Given the description of an element on the screen output the (x, y) to click on. 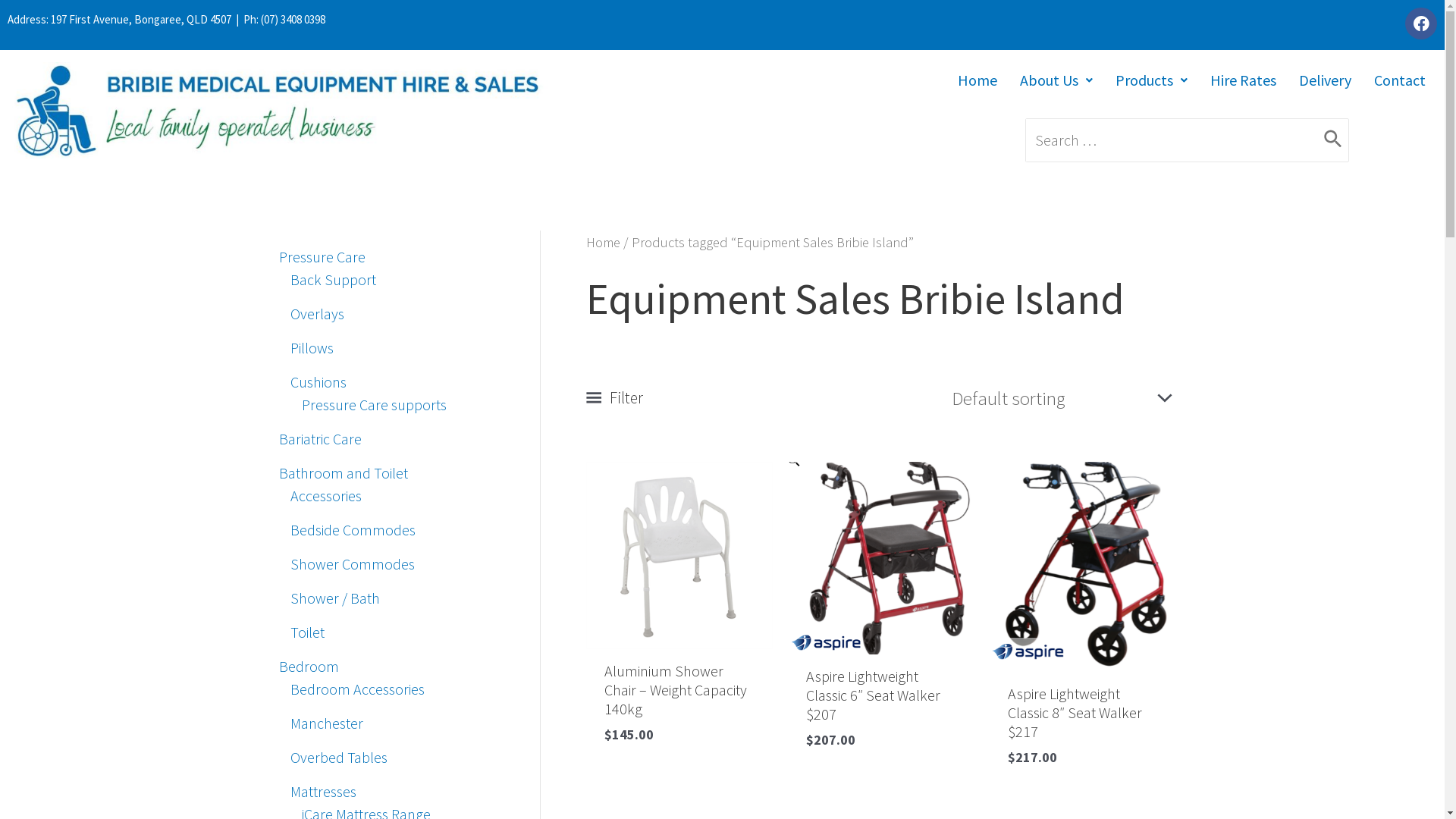
Accessories Element type: text (324, 495)
Pillows Element type: text (310, 347)
Shower / Bath Element type: text (334, 597)
Products Element type: text (1151, 80)
Pressure Care Element type: text (322, 256)
Overbed Tables Element type: text (337, 756)
About Us Element type: text (1056, 80)
Mattresses Element type: text (322, 790)
Manchester Element type: text (325, 722)
Search Element type: text (1333, 140)
Delivery Element type: text (1324, 80)
Bedside Commodes Element type: text (351, 529)
Pressure Care supports Element type: text (373, 404)
Bariatric Care Element type: text (320, 438)
Toilet Element type: text (306, 631)
Cushions Element type: text (317, 381)
Bedroom Element type: text (308, 665)
Contact Element type: text (1399, 80)
Overlays Element type: text (316, 313)
Shower Commodes Element type: text (351, 563)
Filter Element type: text (613, 397)
Hire Rates Element type: text (1242, 80)
Back Support Element type: text (332, 278)
Bathroom and Toilet Element type: text (343, 472)
Home Element type: text (602, 242)
Bedroom Accessories Element type: text (356, 688)
Home Element type: text (977, 80)
